Given the description of an element on the screen output the (x, y) to click on. 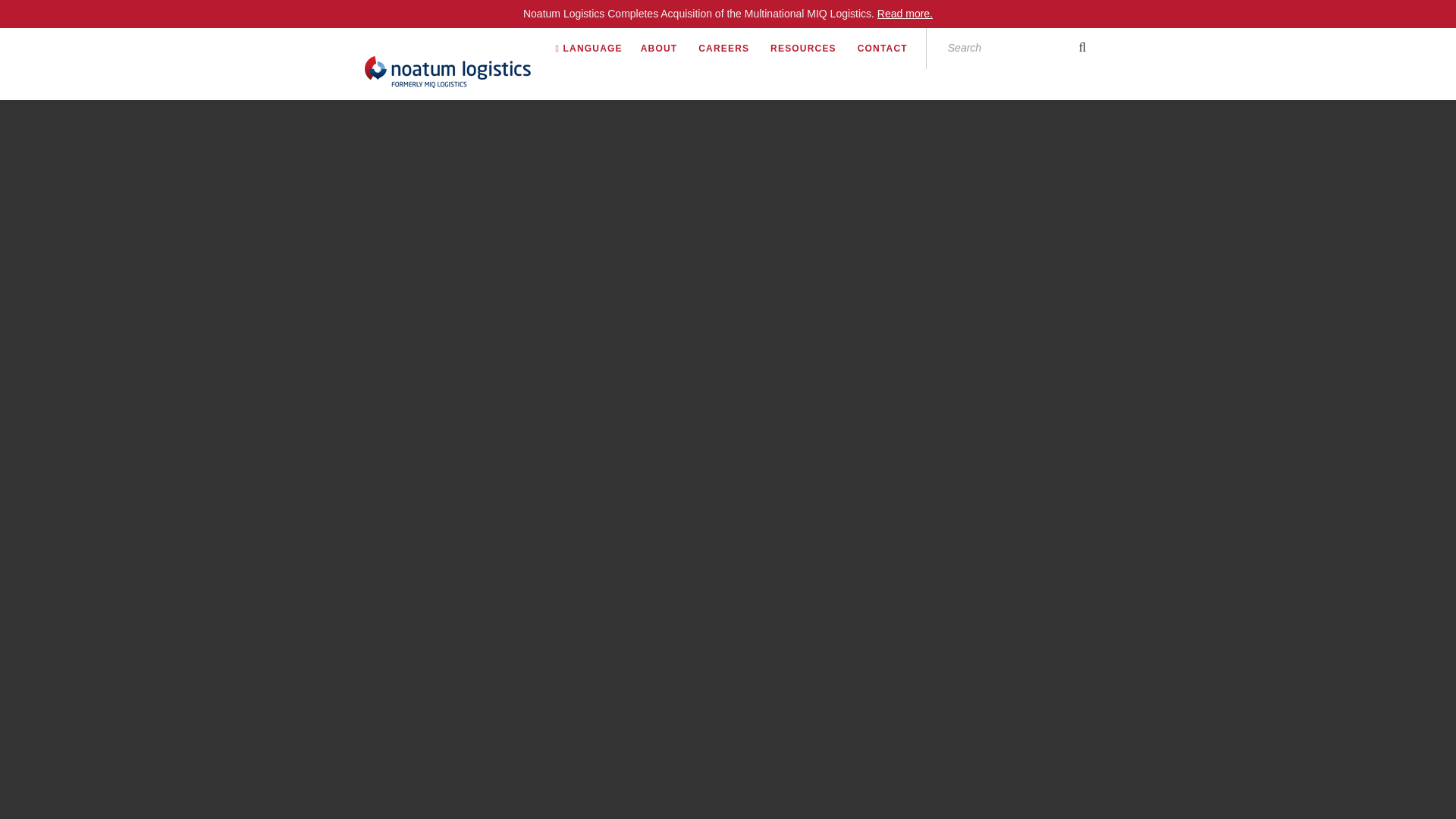
ABOUT (667, 47)
CONTACT (891, 47)
Read more. (905, 13)
CAREERS (732, 47)
RESOURCES (812, 47)
